Given the description of an element on the screen output the (x, y) to click on. 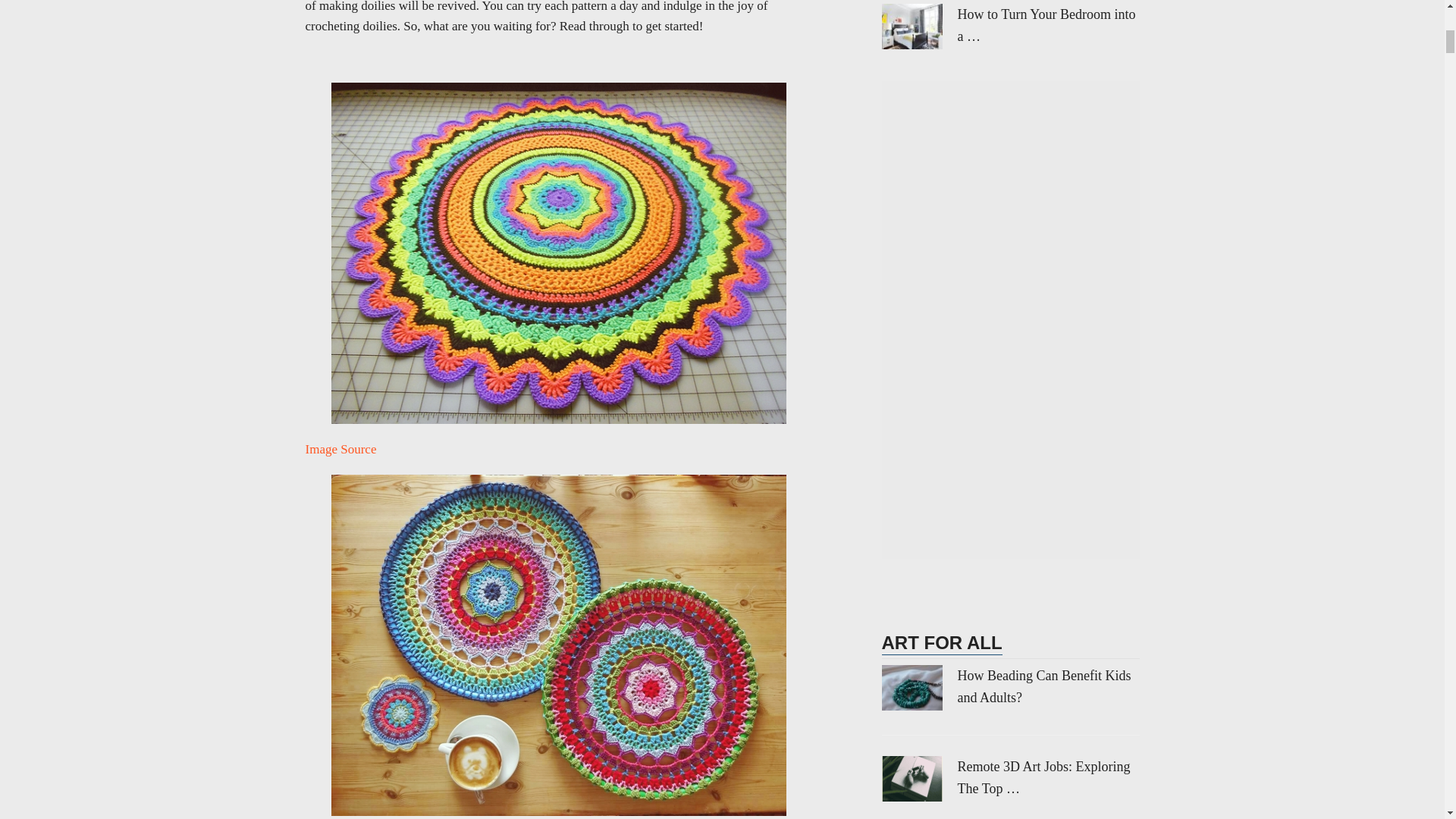
Image Source (339, 449)
